Given the description of an element on the screen output the (x, y) to click on. 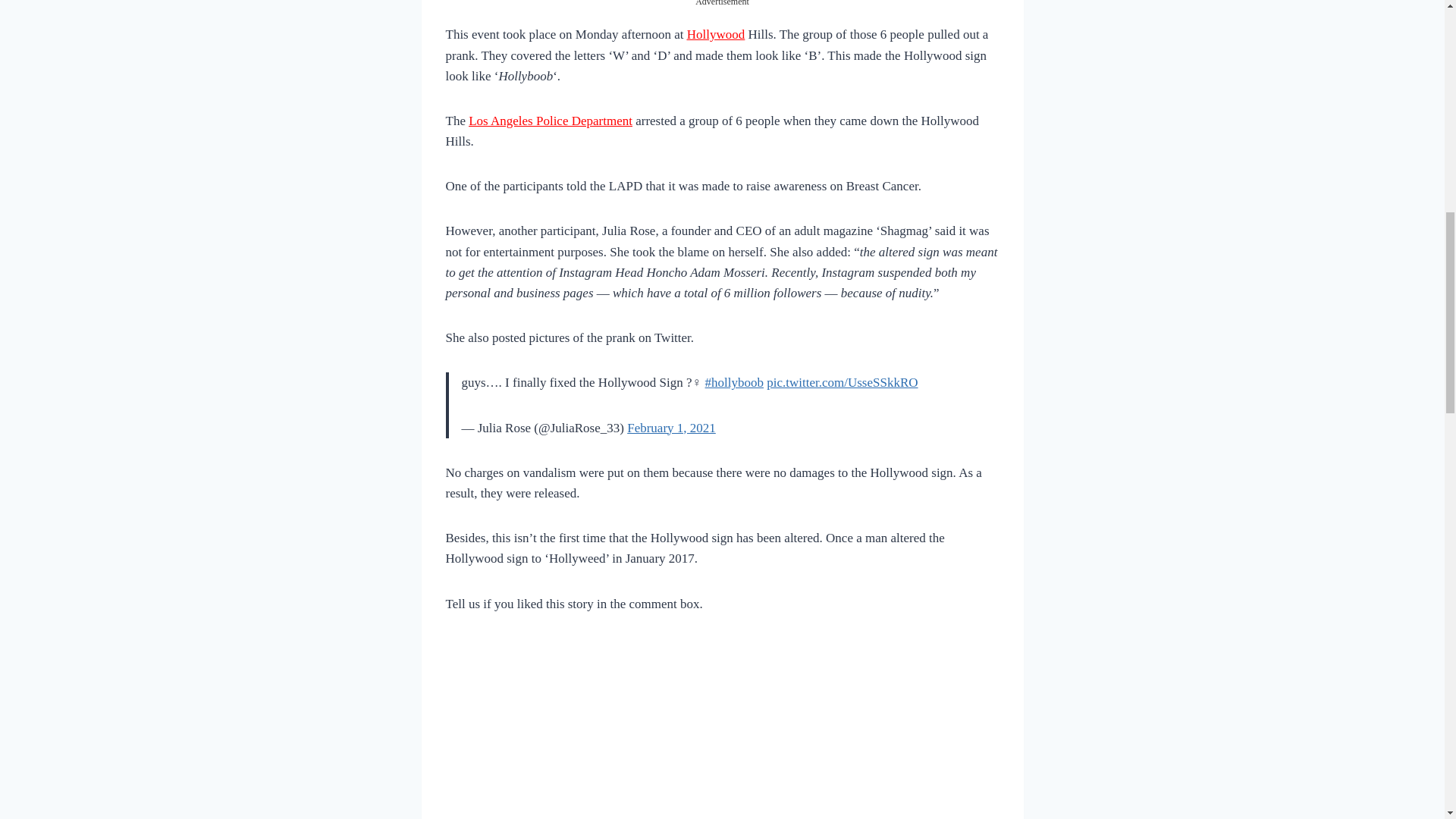
Advertisement (720, 728)
Hollywood (716, 34)
Los Angeles Police Department (549, 120)
February 1, 2021 (671, 427)
